Given the description of an element on the screen output the (x, y) to click on. 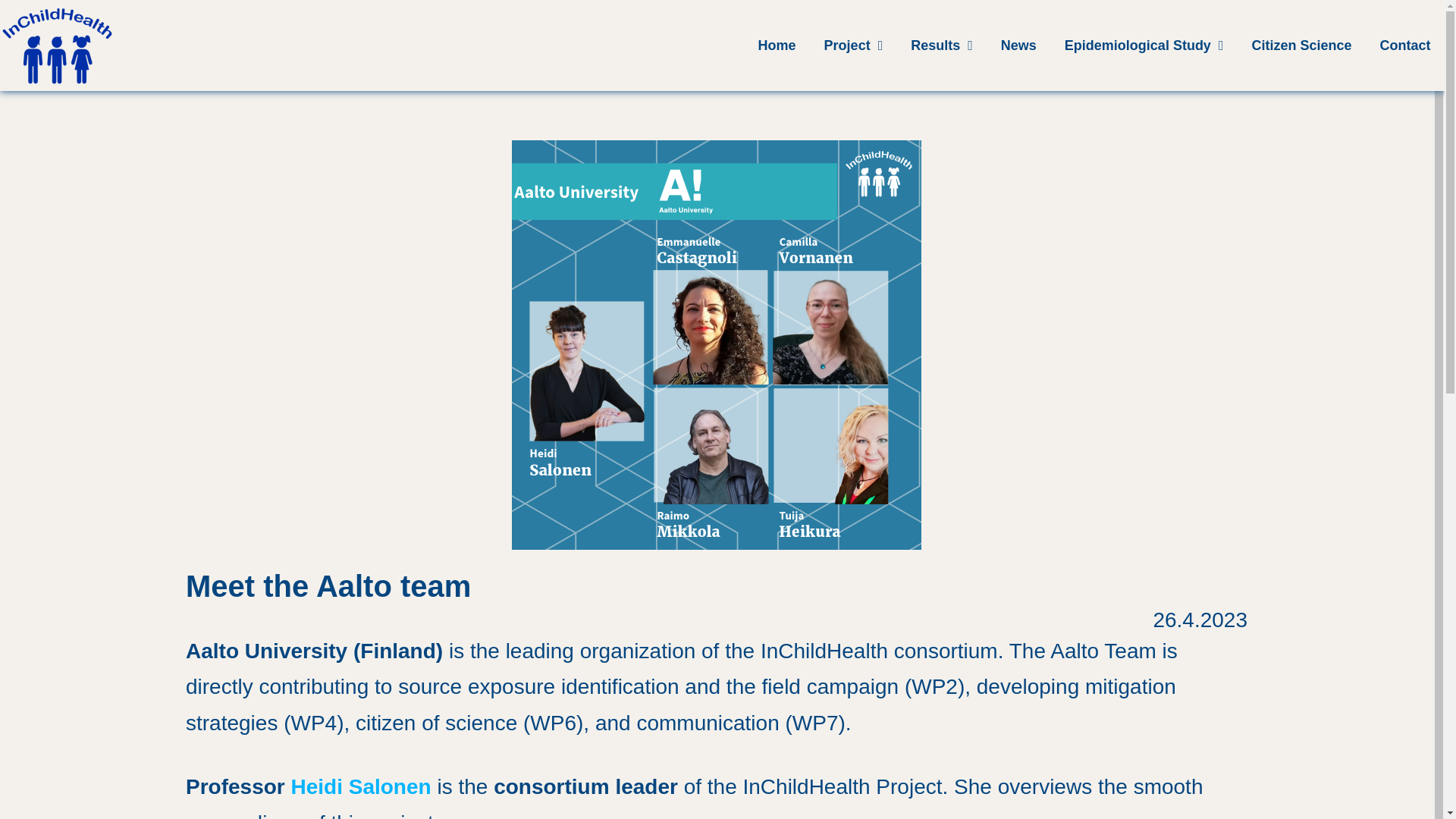
Epidemiological Study (1143, 45)
News (1018, 45)
Heidi Salonen (360, 786)
Project (852, 45)
Citizen Science (1301, 45)
Results (941, 45)
Home (776, 45)
